Given the description of an element on the screen output the (x, y) to click on. 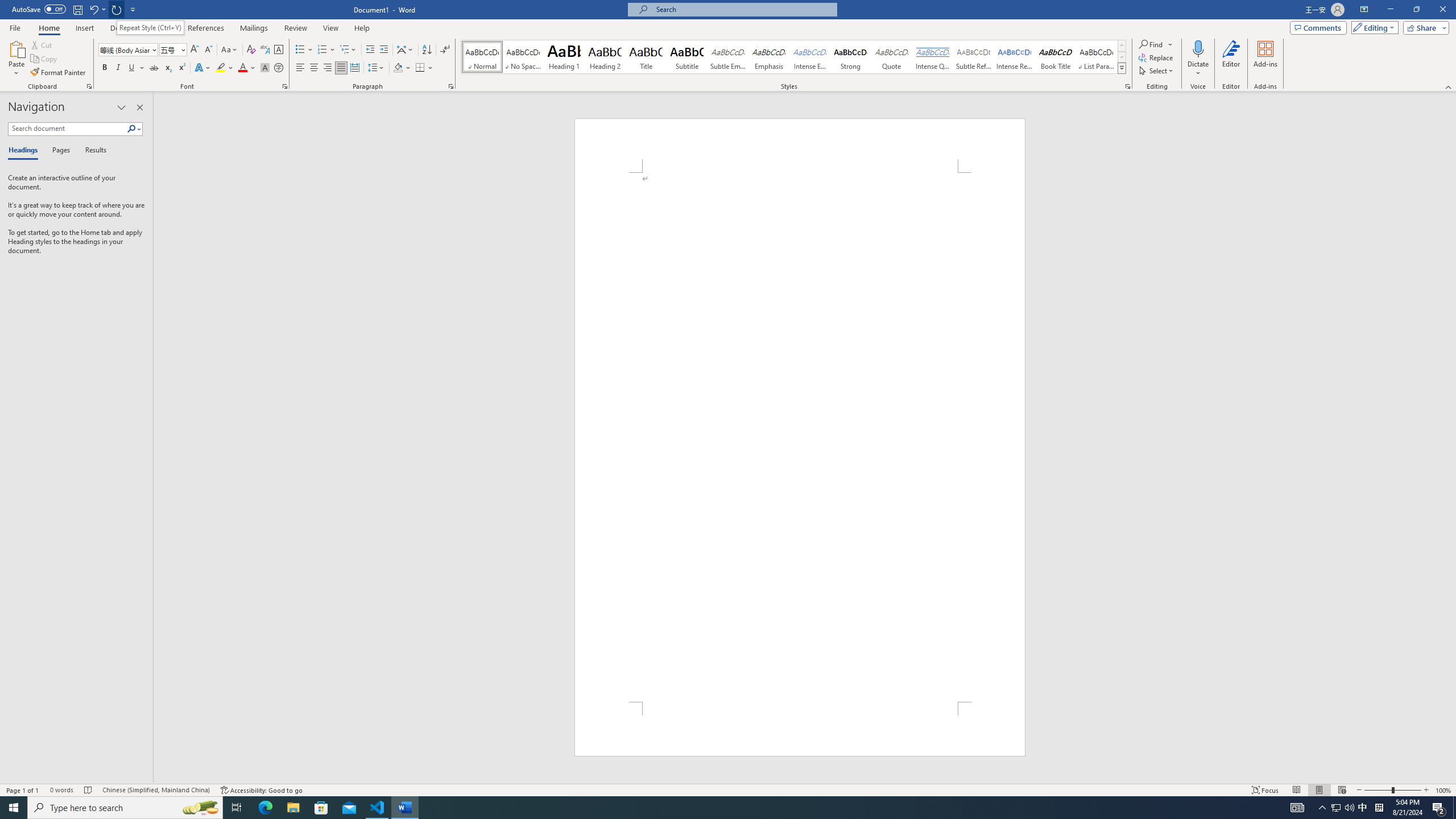
Help (361, 28)
References (205, 28)
Strikethrough (154, 67)
Comments (1318, 27)
Search (131, 128)
Accessibility Checker Accessibility: Good to go (261, 790)
Page Number Page 1 of 1 (22, 790)
Text Highlight Color Yellow (220, 67)
Align Left (300, 67)
Minimize (1390, 9)
Print Layout (1318, 790)
Align Right (327, 67)
Customize Quick Access Toolbar (133, 9)
Character Shading (264, 67)
Italic (118, 67)
